Given the description of an element on the screen output the (x, y) to click on. 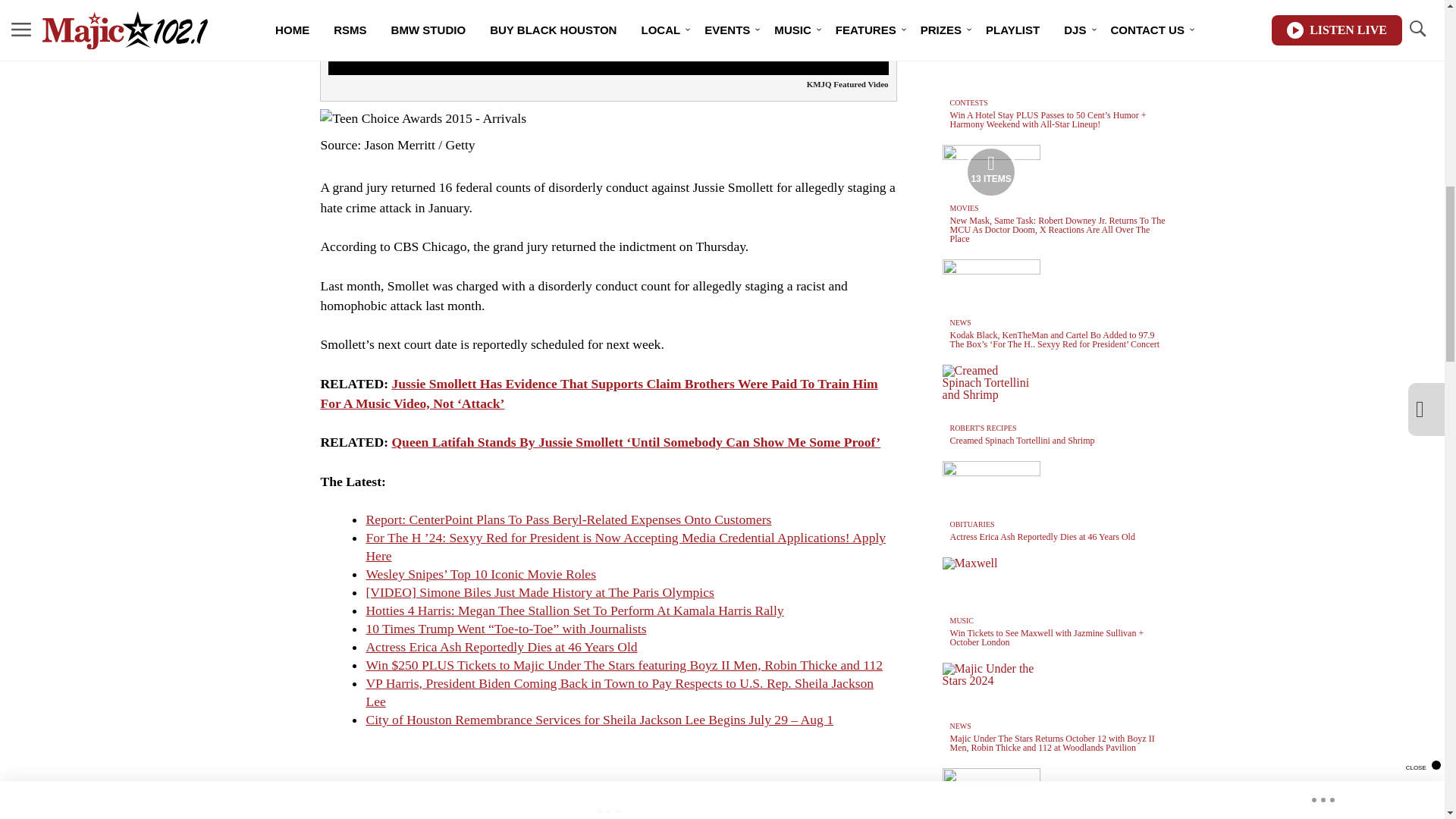
Media Playlist (990, 172)
